Given the description of an element on the screen output the (x, y) to click on. 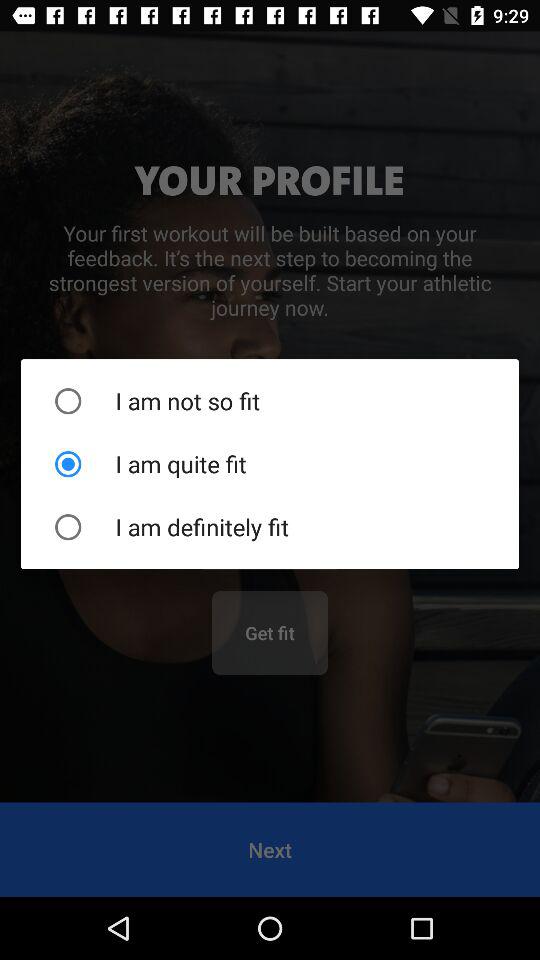
select the button above next (269, 632)
